Given the description of an element on the screen output the (x, y) to click on. 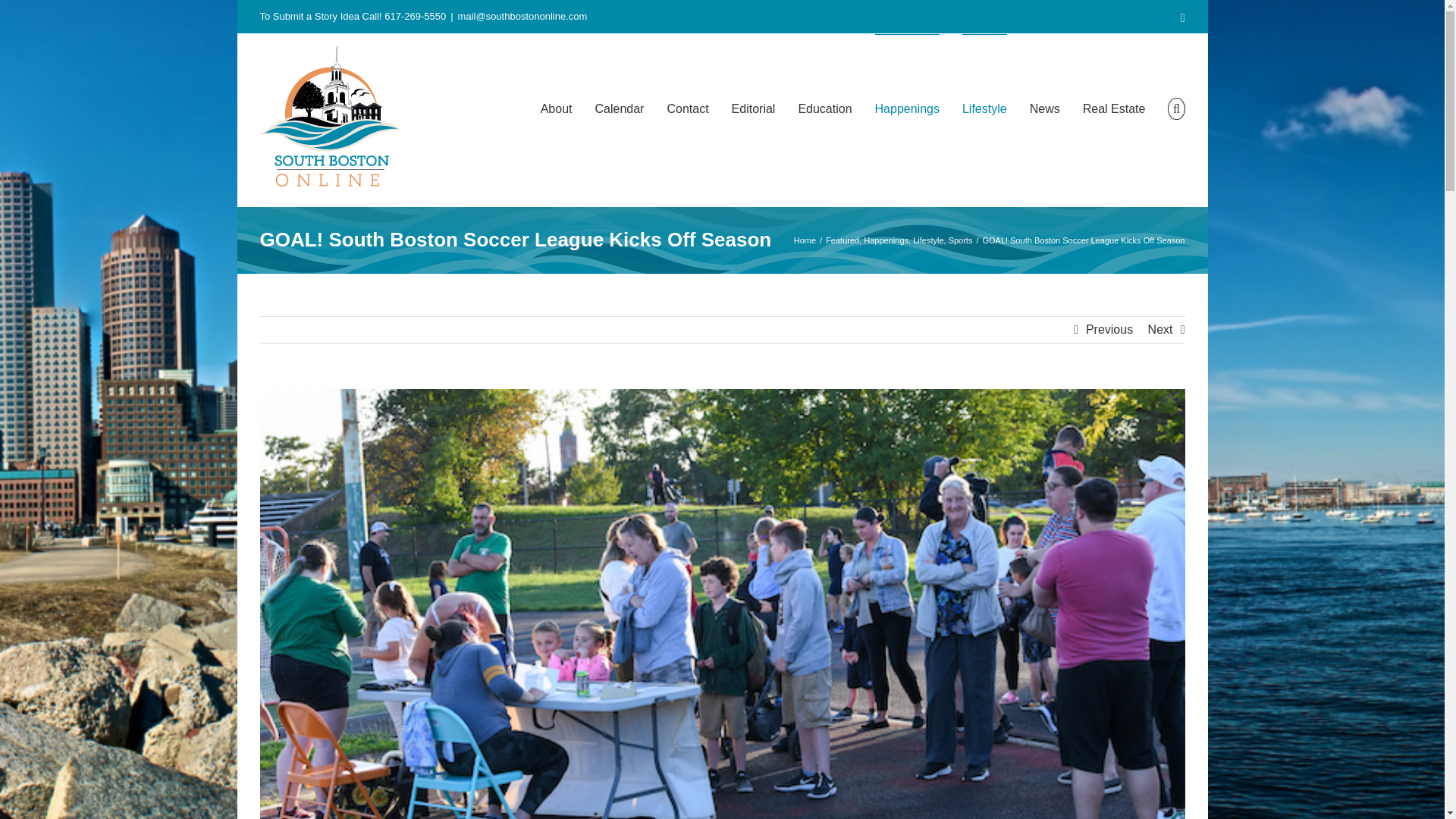
Happenings (885, 239)
Featured (842, 239)
Next (1160, 329)
Sports (960, 239)
Previous (1109, 329)
Lifestyle (927, 239)
Home (804, 239)
